Given the description of an element on the screen output the (x, y) to click on. 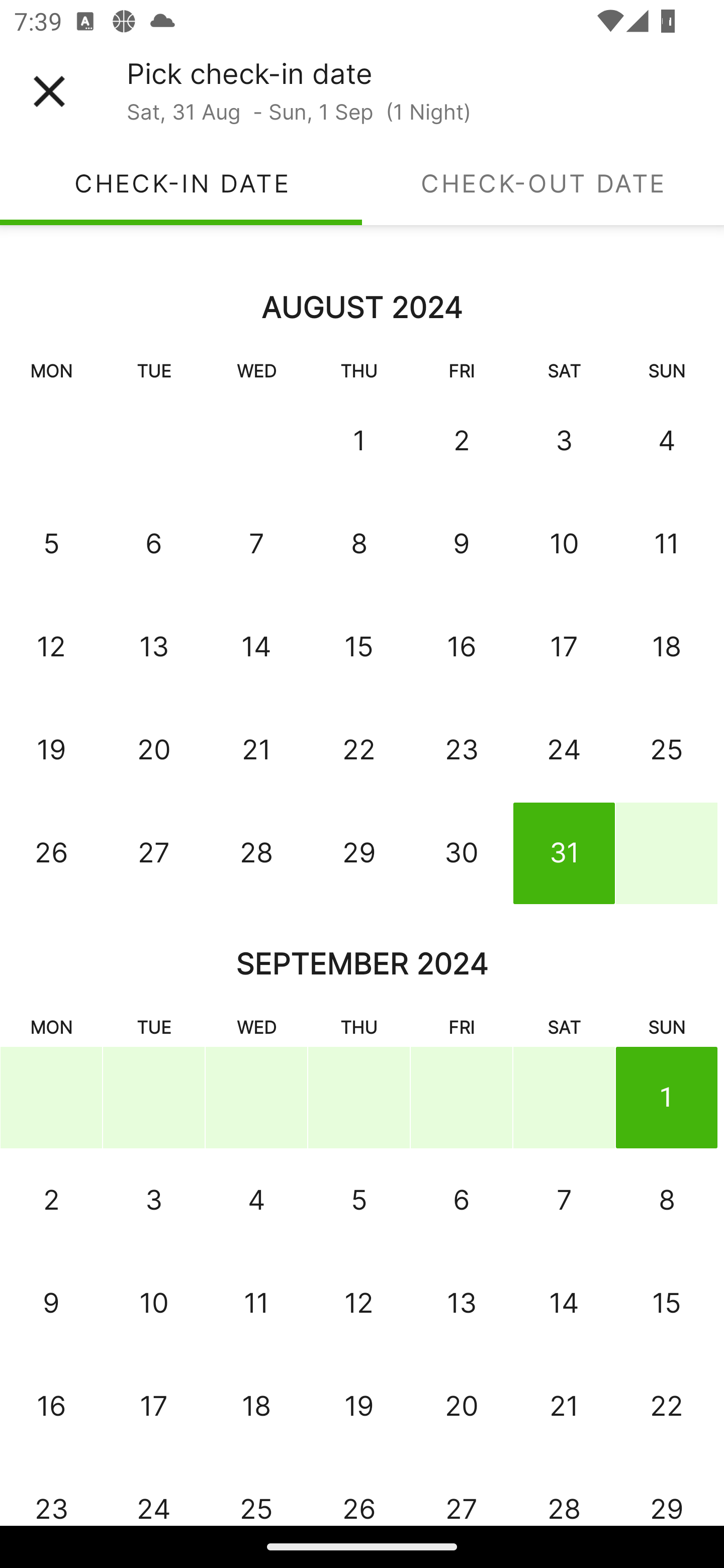
Check-out Date CHECK-OUT DATE (543, 183)
